Given the description of an element on the screen output the (x, y) to click on. 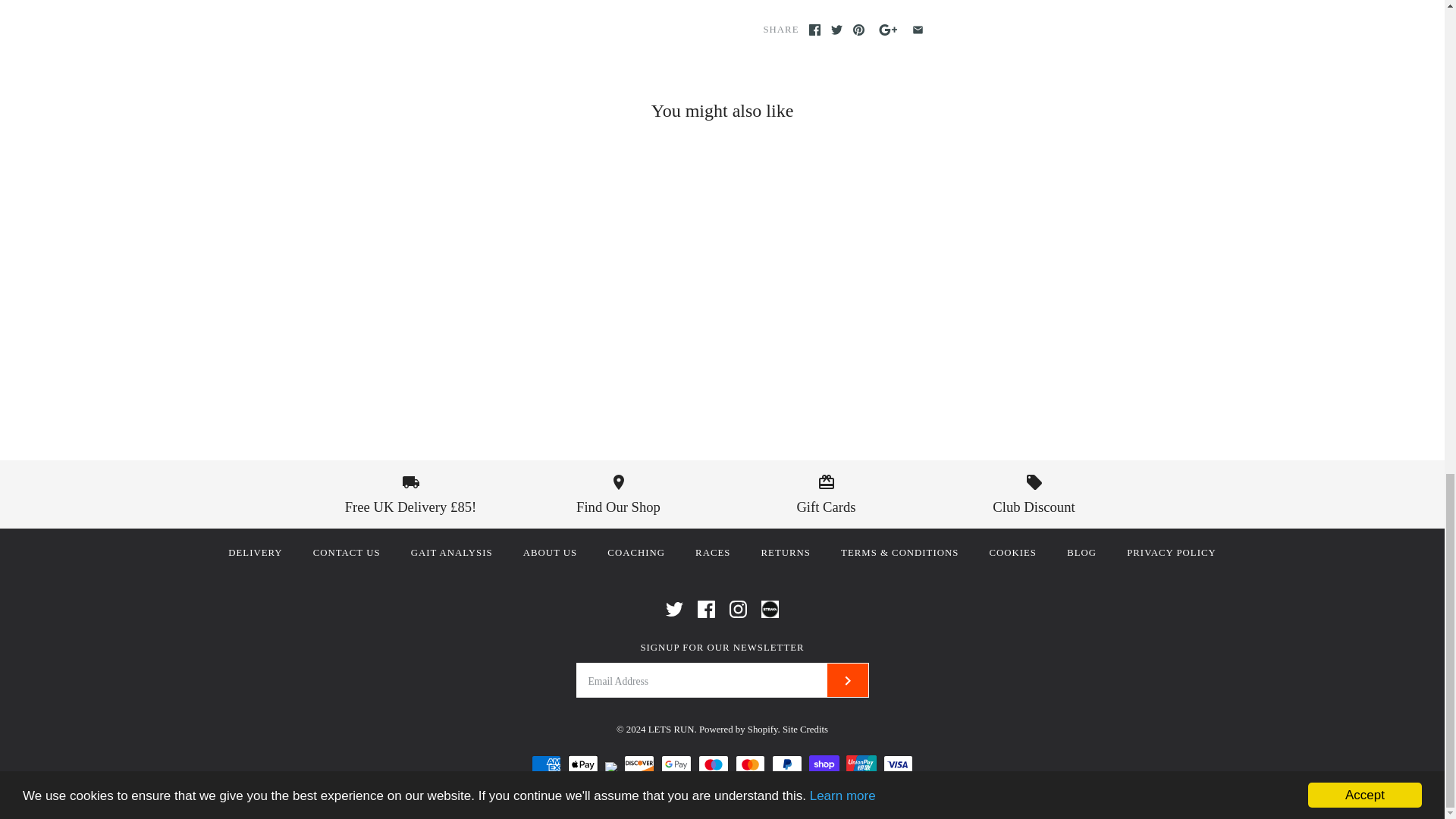
RIGHT (847, 680)
Facebook (815, 30)
Twitter (837, 30)
Facebook (705, 609)
Email (917, 30)
Pinterest (858, 30)
Instagram (737, 609)
Twitter (673, 609)
GooglePlus (888, 30)
